Given the description of an element on the screen output the (x, y) to click on. 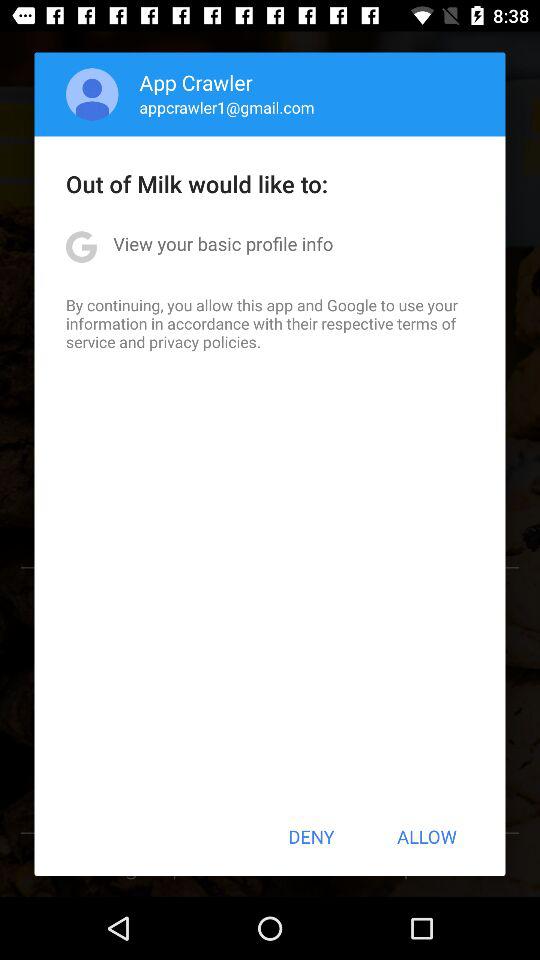
turn off view your basic (223, 243)
